Given the description of an element on the screen output the (x, y) to click on. 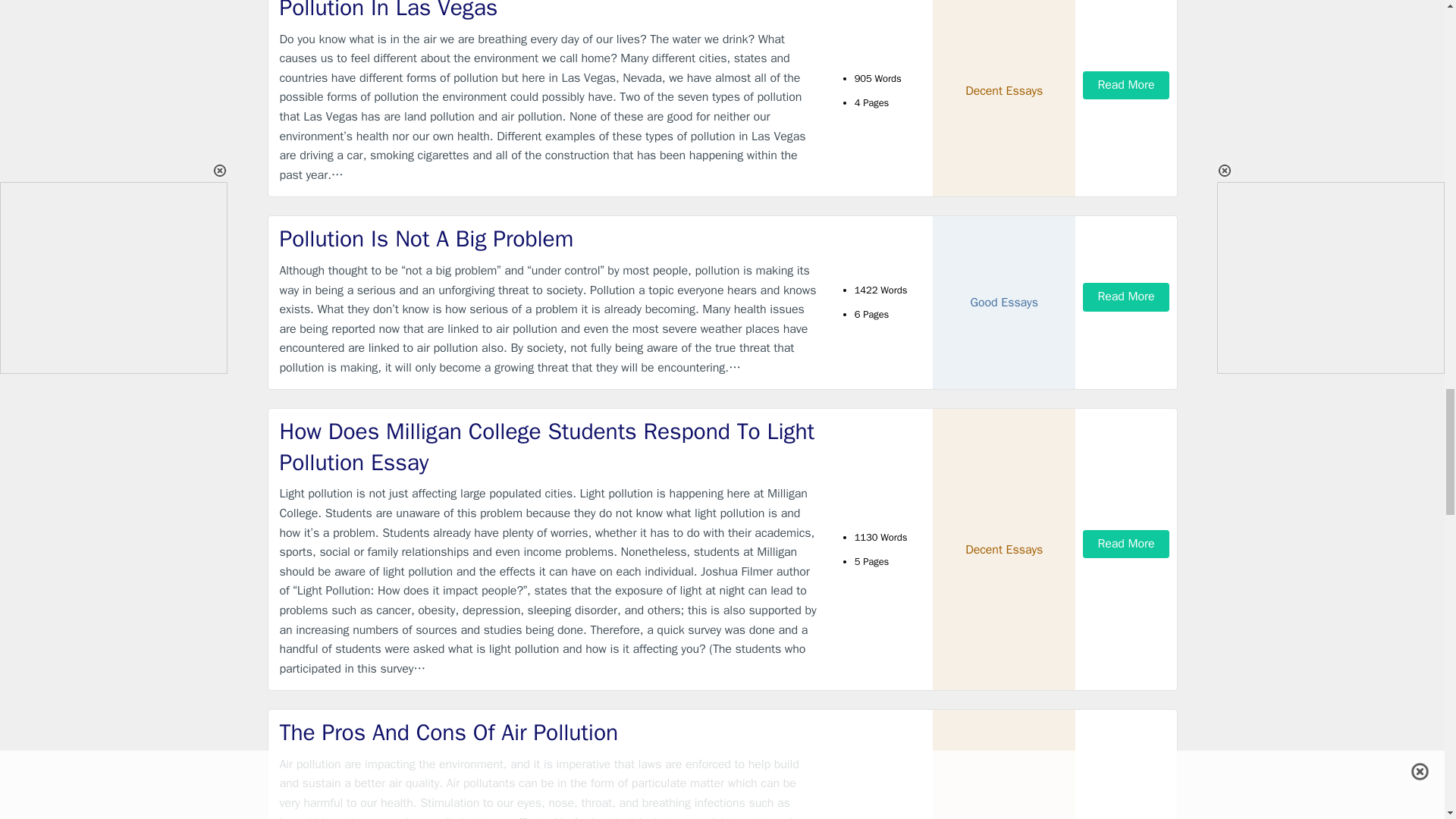
Pollution In Las Vegas (548, 11)
Pollution Is Not A Big Problem (548, 238)
Read More (1126, 296)
Read More (1126, 85)
